Given the description of an element on the screen output the (x, y) to click on. 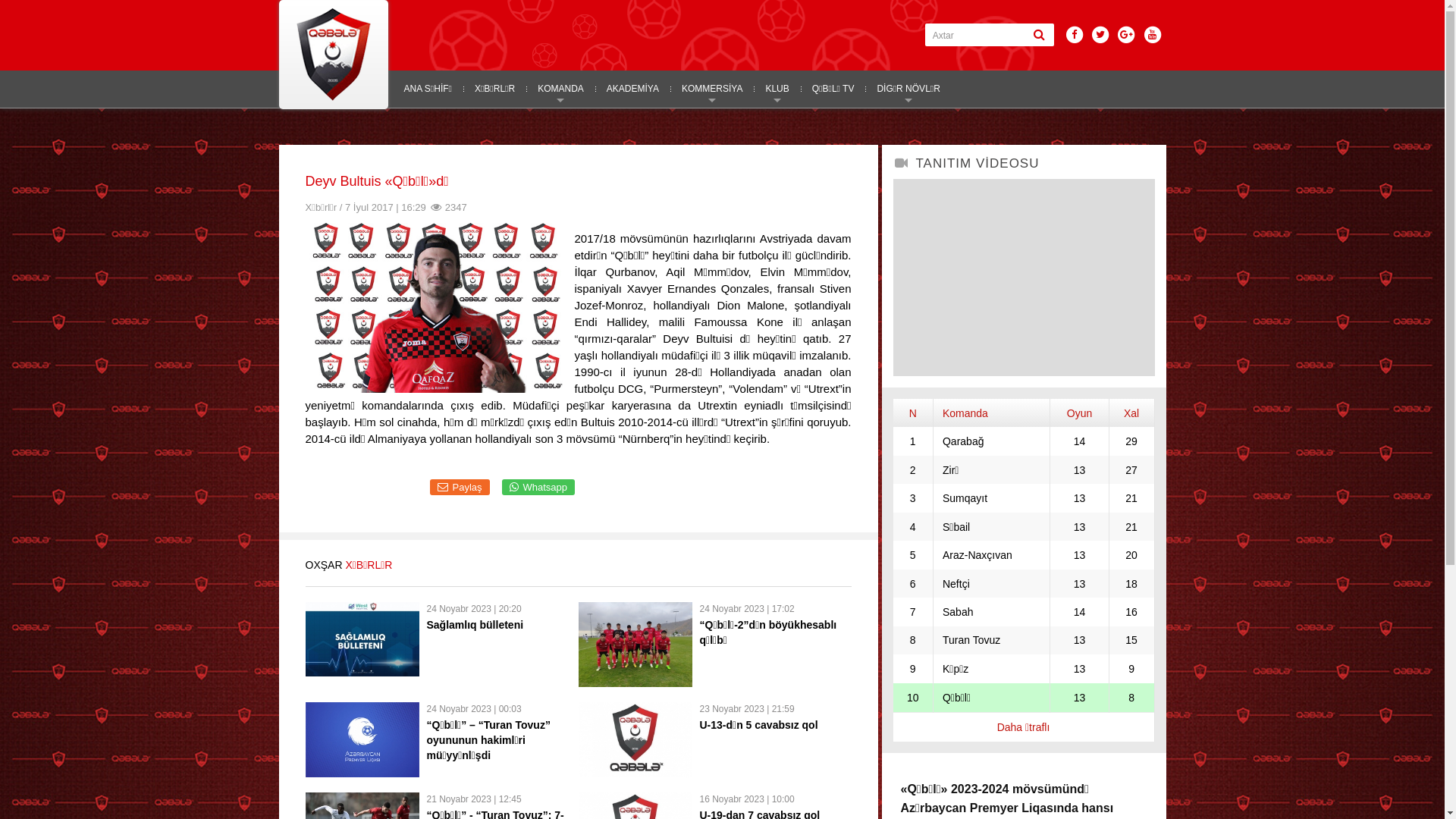
+
KLUB Element type: text (776, 88)
+
KOMANDA Element type: text (560, 88)
Whatsapp Element type: text (538, 487)
